Given the description of an element on the screen output the (x, y) to click on. 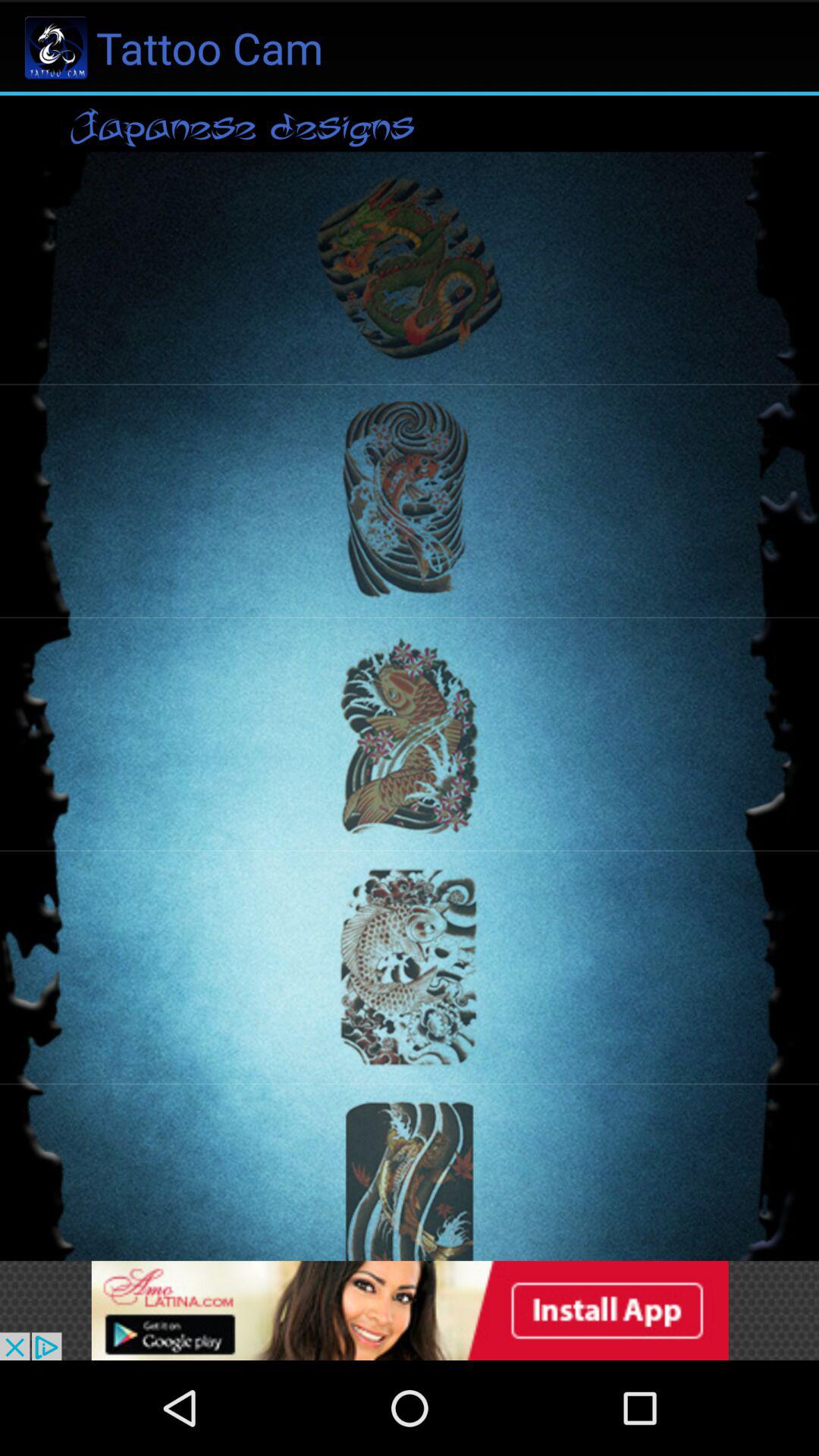
advertise banner (409, 1310)
